Given the description of an element on the screen output the (x, y) to click on. 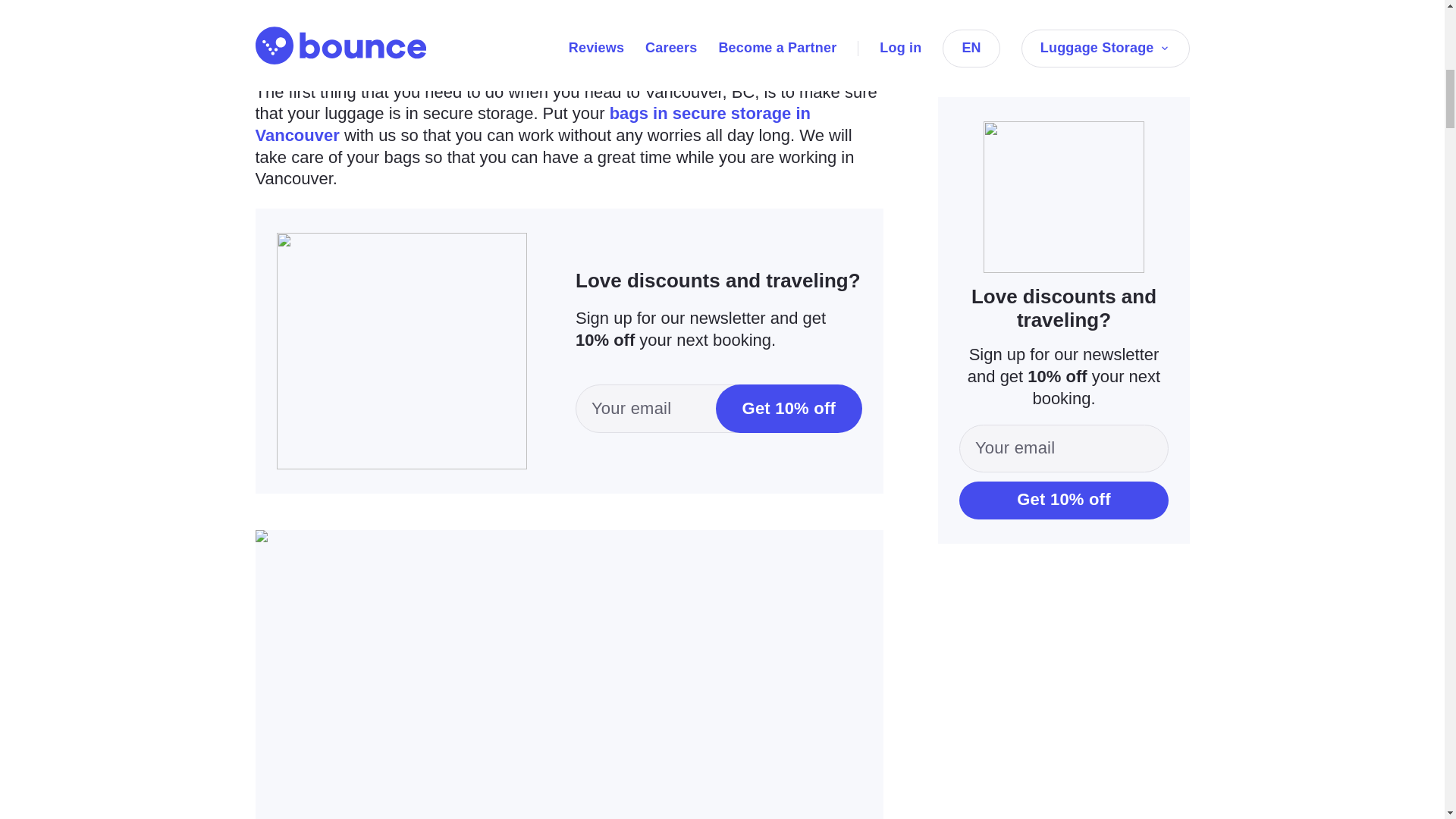
bags in secure storage in Vancouver (531, 124)
